Given the description of an element on the screen output the (x, y) to click on. 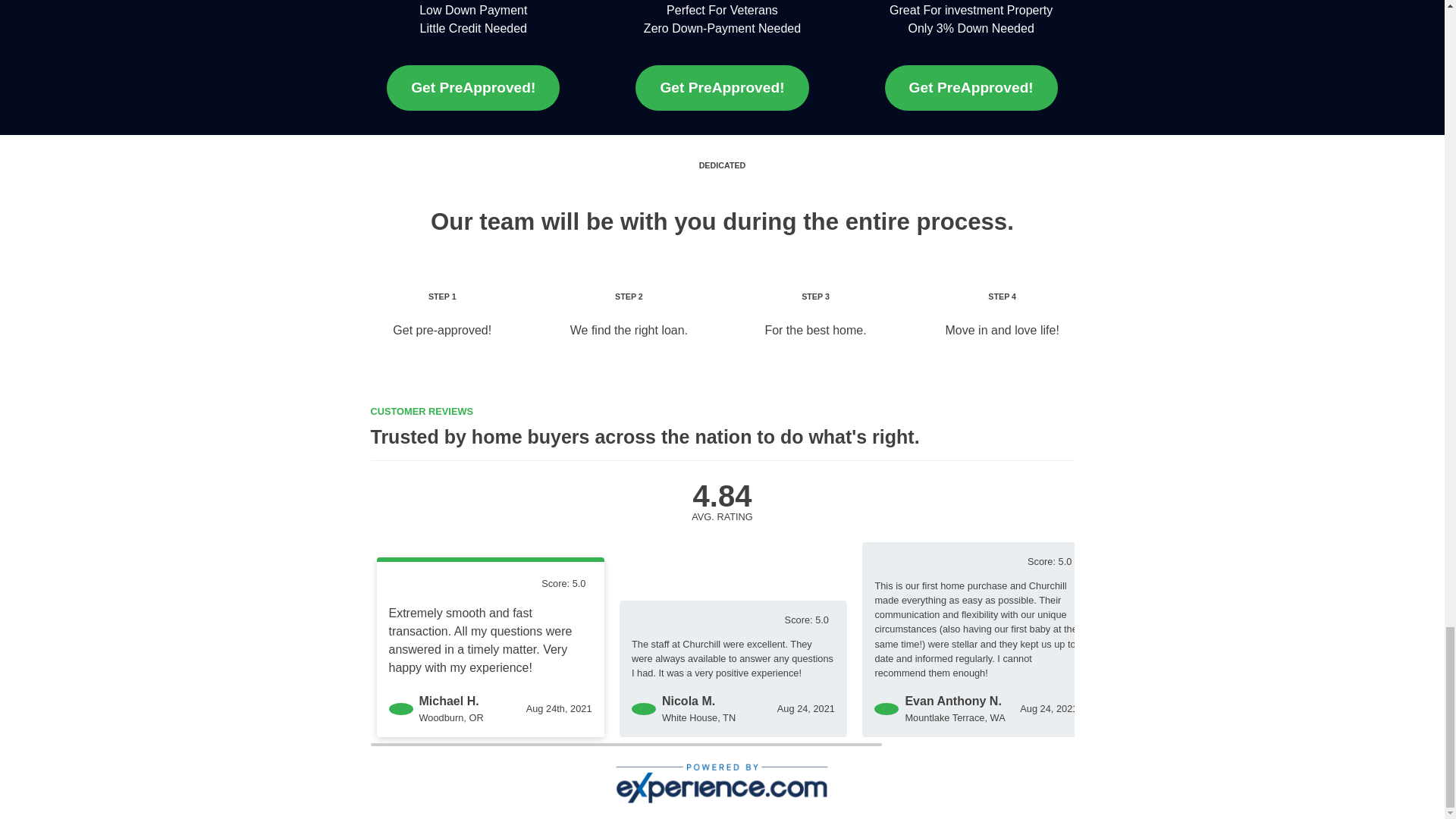
Get PreApproved! (971, 88)
Get PreApproved! (721, 88)
Get PreApproved! (473, 88)
